Given the description of an element on the screen output the (x, y) to click on. 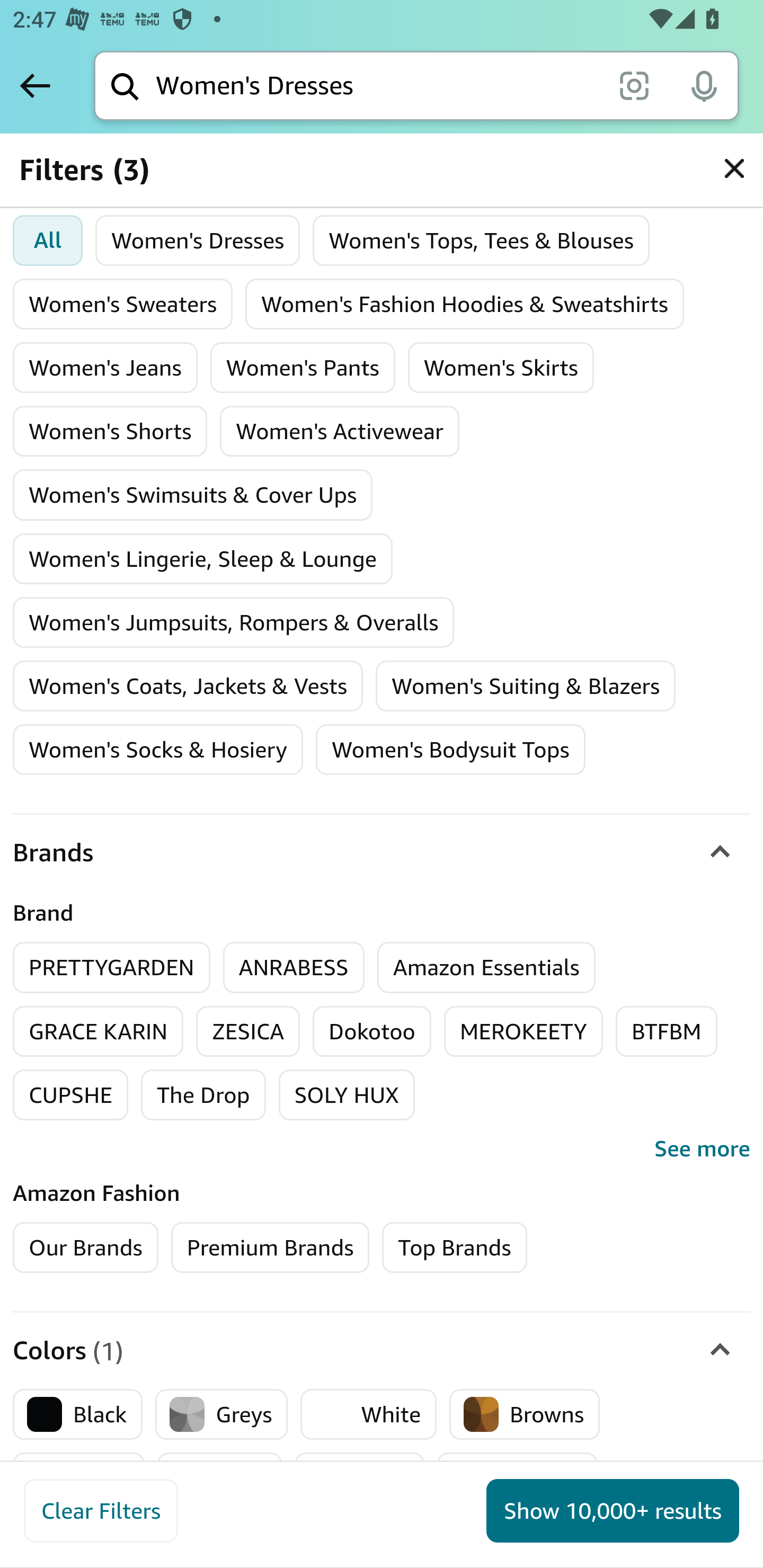
Back (35, 85)
scan it (633, 85)
Women's Dresses (197, 240)
Women's Tops, Tees & Blouses (480, 240)
Women's Sweaters (122, 303)
Women's Fashion Hoodies & Sweatshirts (464, 303)
Women's Jeans (105, 367)
Women's Pants (302, 367)
Women's Skirts (500, 367)
Women's Shorts (110, 430)
Women's Activewear (339, 430)
Women's Swimsuits & Cover Ups (192, 494)
Women's Lingerie, Sleep & Lounge (203, 558)
Women's Jumpsuits, Rompers & Overalls (233, 622)
Women's Coats, Jackets & Vests (187, 685)
Women's Suiting & Blazers (526, 685)
Women's Socks & Hosiery (157, 749)
Women's Bodysuit Tops (450, 749)
Brands (381, 852)
PRETTYGARDEN (111, 966)
ANRABESS (293, 966)
Amazon Essentials (485, 966)
GRACE KARIN (98, 1030)
ZESICA (247, 1030)
Dokotoo (371, 1030)
MEROKEETY (523, 1030)
BTFBM (666, 1030)
CUPSHE (70, 1094)
The Drop (203, 1094)
SOLY HUX (346, 1094)
See more, Brand See more (381, 1148)
Our Brands (85, 1246)
Premium Brands (270, 1246)
Top Brands (454, 1246)
Colors (1) (381, 1351)
Black Black Black Black (77, 1414)
Greys Greys Greys Greys (221, 1414)
White White White White (368, 1414)
Browns Browns Browns Browns (524, 1414)
Clear Filters (100, 1510)
Show 10,000+ results (612, 1510)
